Given the description of an element on the screen output the (x, y) to click on. 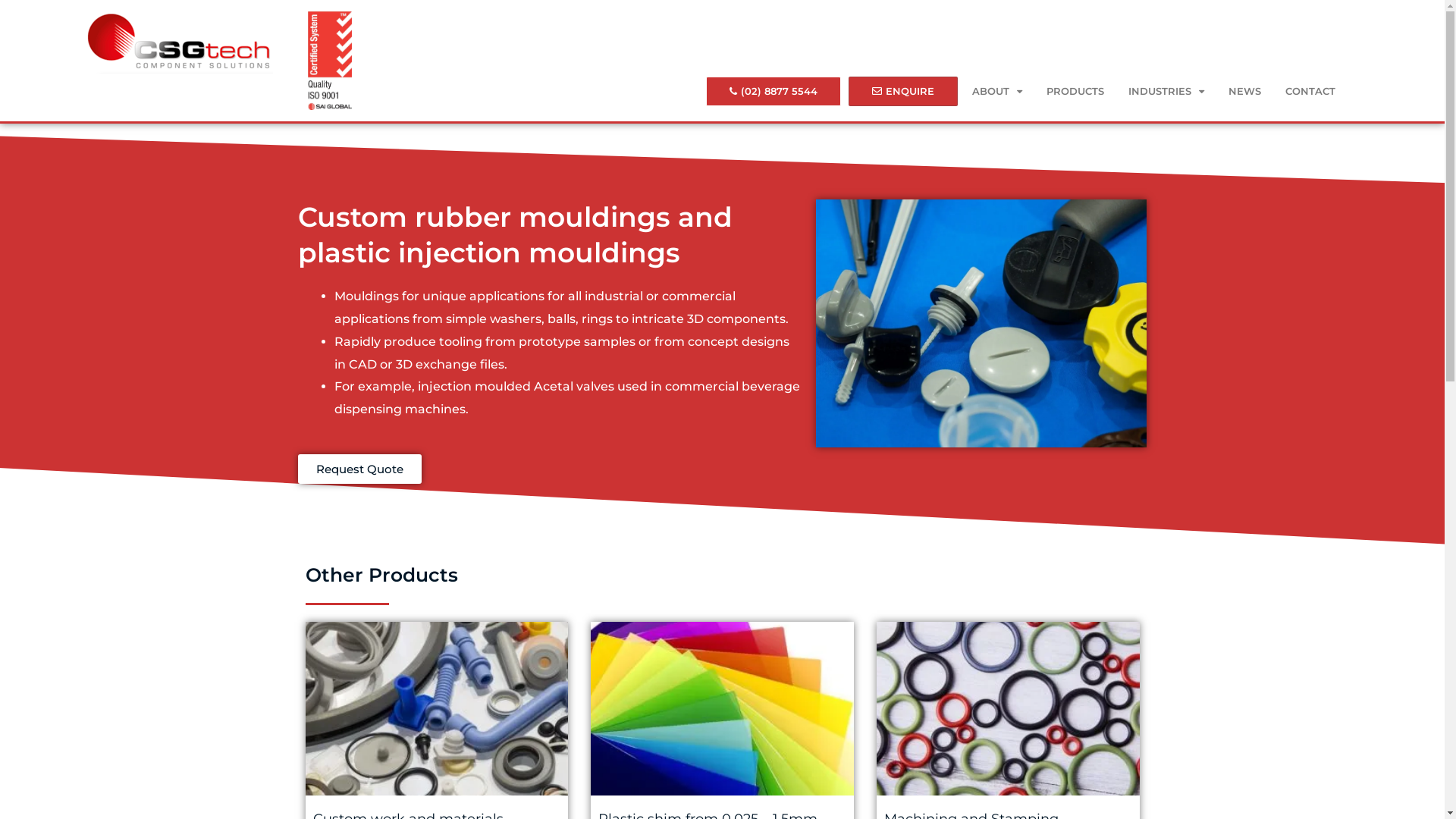
(02) 8877 5544 Element type: text (773, 91)
CONTACT Element type: text (1310, 90)
ENQUIRE Element type: text (902, 91)
NEWS Element type: text (1244, 90)
INDUSTRIES Element type: text (1165, 90)
Request Quote Element type: text (358, 468)
PRODUCTS Element type: text (1074, 90)
ABOUT Element type: text (996, 90)
